Given the description of an element on the screen output the (x, y) to click on. 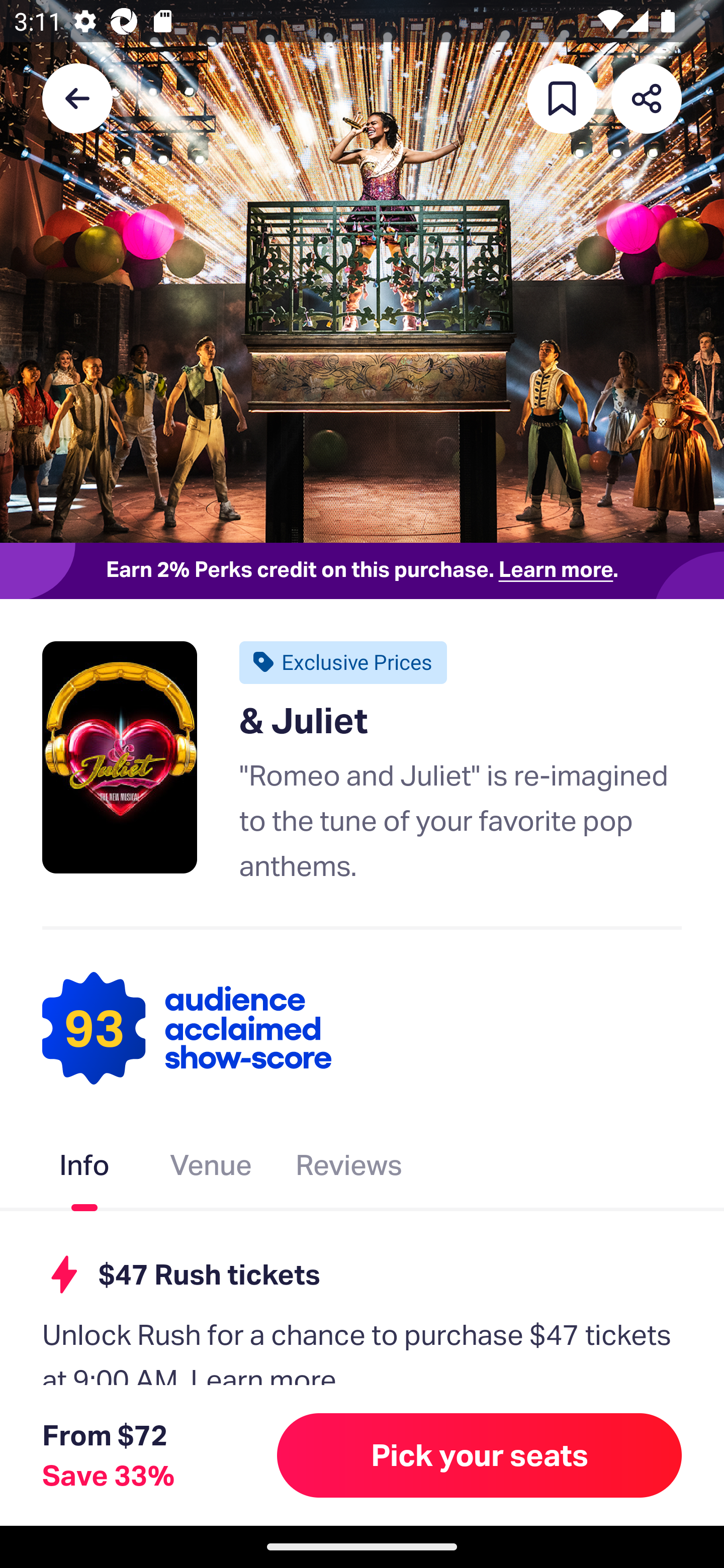
Earn 2% Perks credit on this purchase. Learn more. (362, 570)
Venue (210, 1168)
Reviews (348, 1168)
Pick your seats (479, 1454)
